Given the description of an element on the screen output the (x, y) to click on. 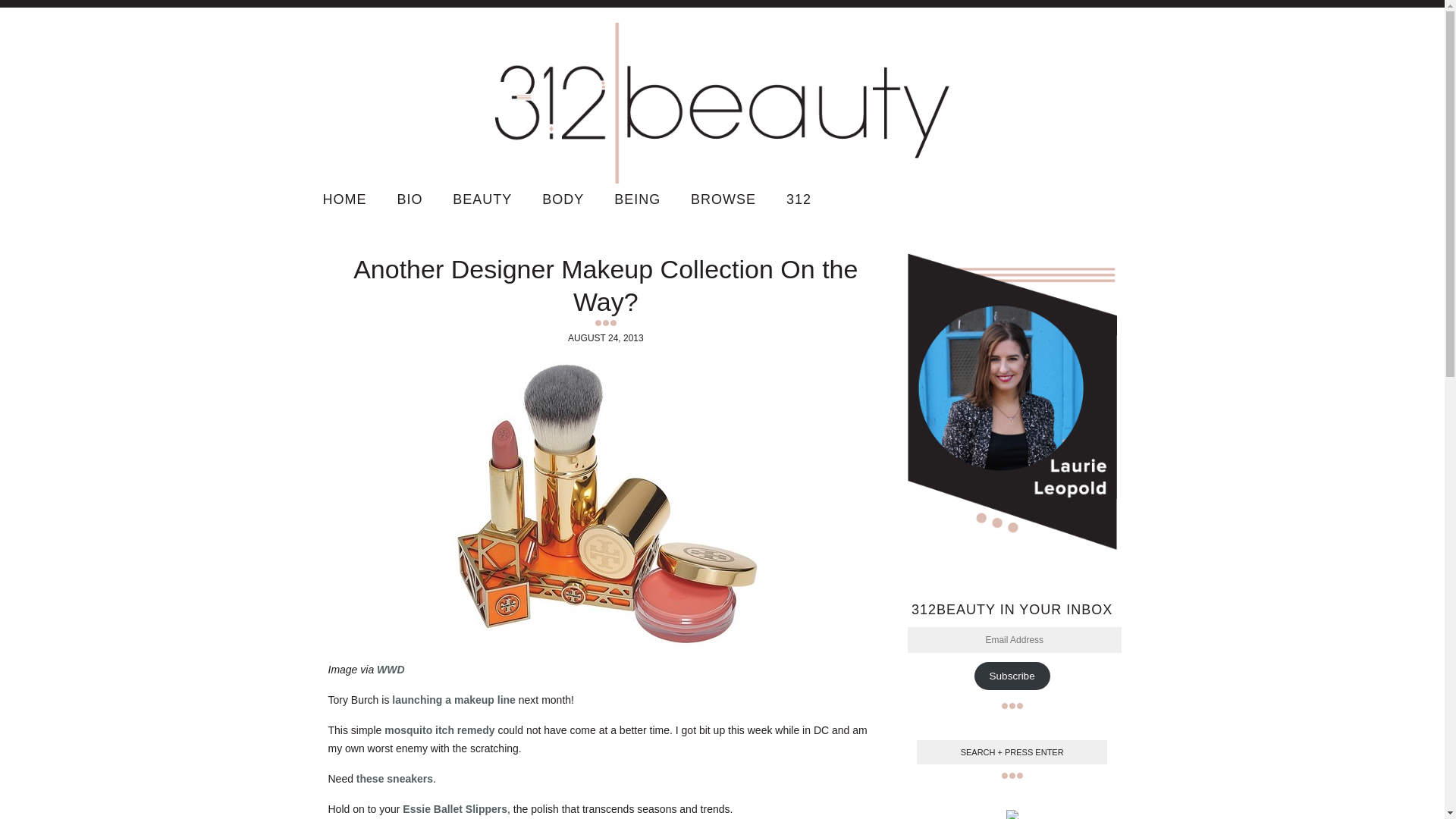
these sneakers Element type: text (394, 778)
AUGUST 24, 2013 Element type: text (605, 338)
launching a makeup line Element type: text (453, 699)
BODY Element type: text (562, 199)
BIO Element type: text (409, 199)
HOME Element type: text (345, 199)
Essie Ballet Slippers Element type: text (454, 809)
312 Element type: text (798, 199)
Search Element type: text (27, 11)
BEAUTY Element type: text (481, 199)
WWD Element type: text (390, 669)
Subscribe Element type: text (1012, 676)
BEING Element type: text (637, 199)
mosquito itch remedy Element type: text (439, 730)
BROWSE Element type: text (723, 199)
Skip to content Element type: text (1123, 185)
